Given the description of an element on the screen output the (x, y) to click on. 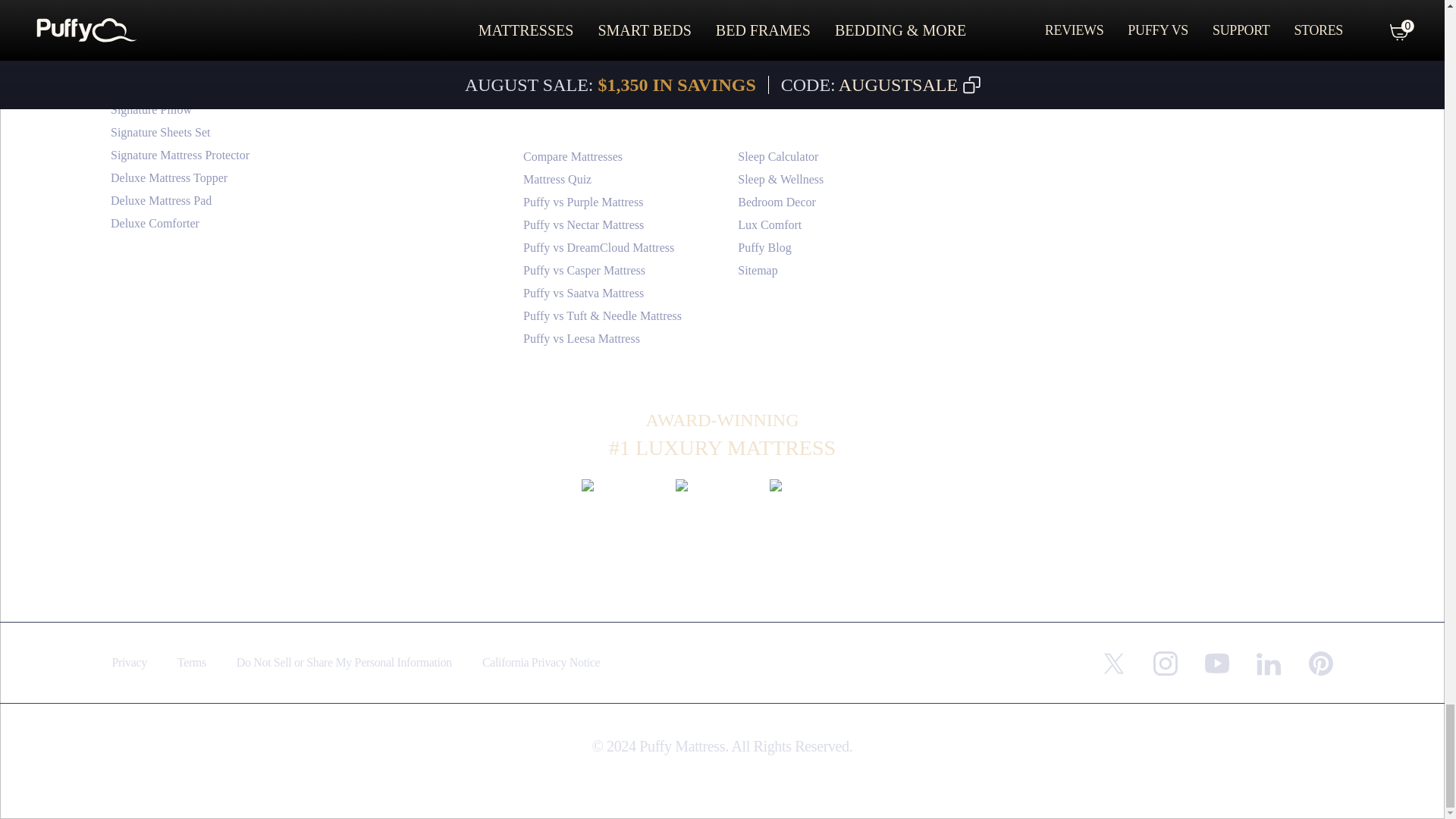
Puffy Mattress on Youtube (1216, 662)
Puffy Mattress on LinkedIn (1268, 663)
Puffy Mattress on Instagram (1165, 663)
Puffy Mattress on Pinterest (1320, 663)
Puffy Mattress on Twitter (1113, 663)
